Given the description of an element on the screen output the (x, y) to click on. 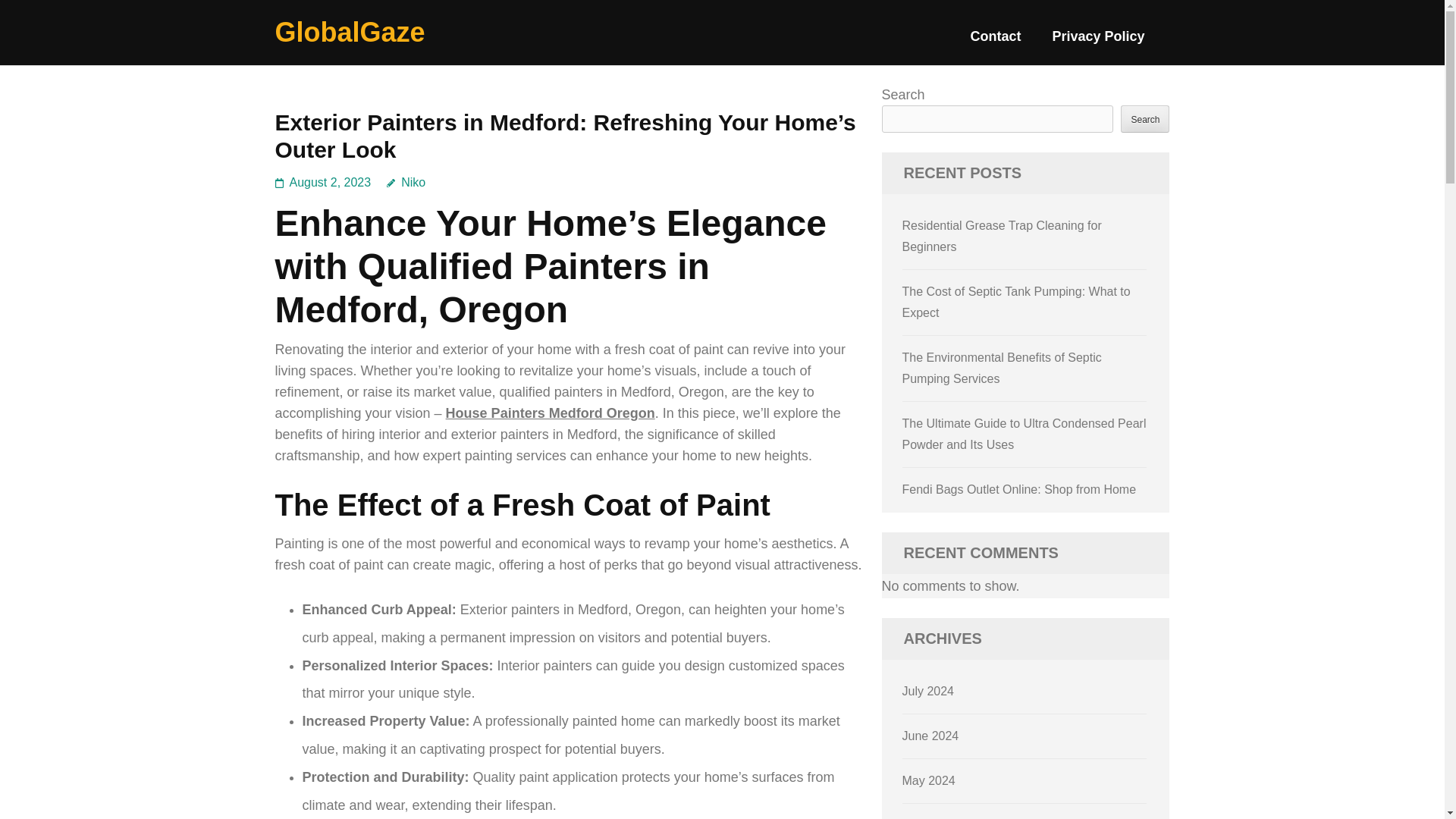
Residential Grease Trap Cleaning for Beginners (1002, 236)
House Painters Medford Oregon (550, 412)
May 2024 (928, 780)
The Cost of Septic Tank Pumping: What to Expect (1016, 302)
Privacy Policy (1097, 42)
GlobalGaze (350, 31)
Niko (406, 182)
July 2024 (928, 690)
Contact (994, 42)
Search (1145, 118)
June 2024 (930, 735)
The Environmental Benefits of Septic Pumping Services (1002, 367)
August 2, 2023 (330, 182)
Fendi Bags Outlet Online: Shop from Home (1019, 489)
